Given the description of an element on the screen output the (x, y) to click on. 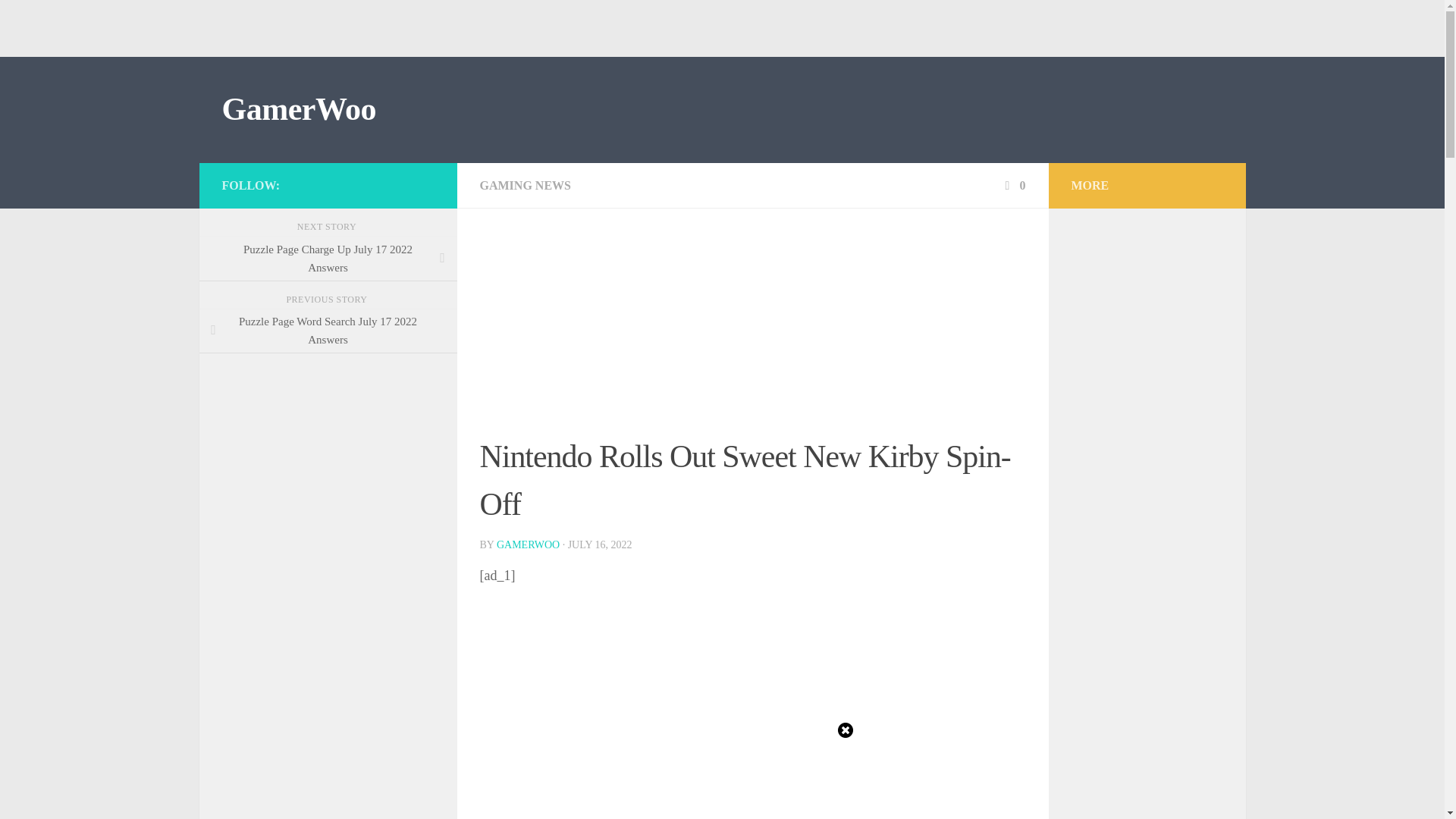
Puzzle Page Word Search July 17 2022 Answers (327, 330)
Posts by Gamerwoo (527, 544)
Skip to content (59, 20)
0 (1013, 185)
GamerWoo (298, 109)
GAMING NEWS (524, 185)
Puzzle Page Charge Up July 17 2022 Answers (327, 258)
GAMERWOO (527, 544)
